Given the description of an element on the screen output the (x, y) to click on. 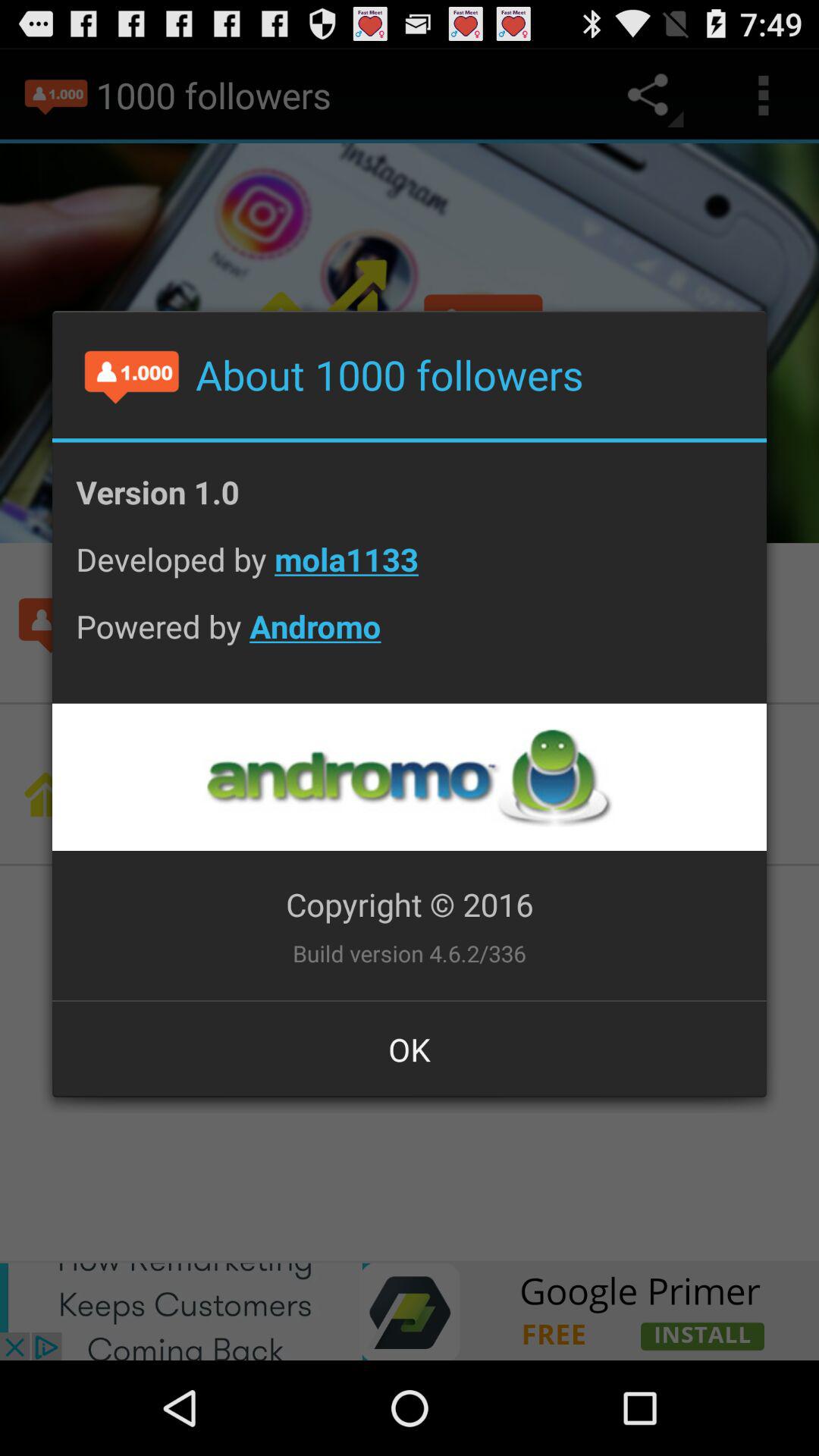
tap icon above powered by andromo app (409, 570)
